Given the description of an element on the screen output the (x, y) to click on. 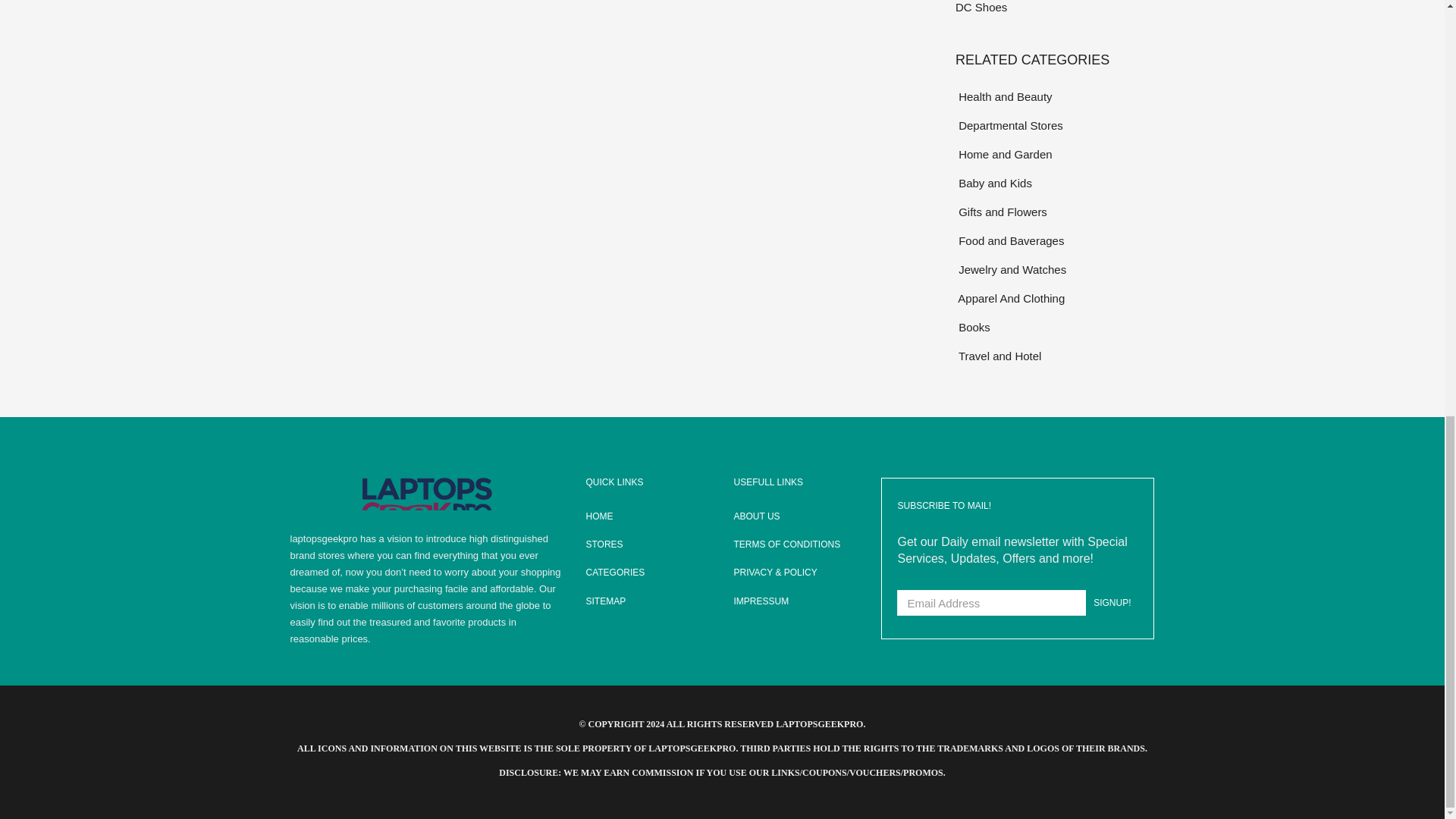
 Travel and Hotel (1054, 355)
 Jewelry and Watches (1054, 269)
 Gifts and Flowers (1054, 211)
DC Shoes (1054, 8)
CATEGORIES (647, 572)
 Books (1054, 326)
 Home and Garden (1054, 153)
STORES (647, 544)
 Apparel And Clothing (1054, 298)
 Health and Beauty (1054, 96)
